Given the description of an element on the screen output the (x, y) to click on. 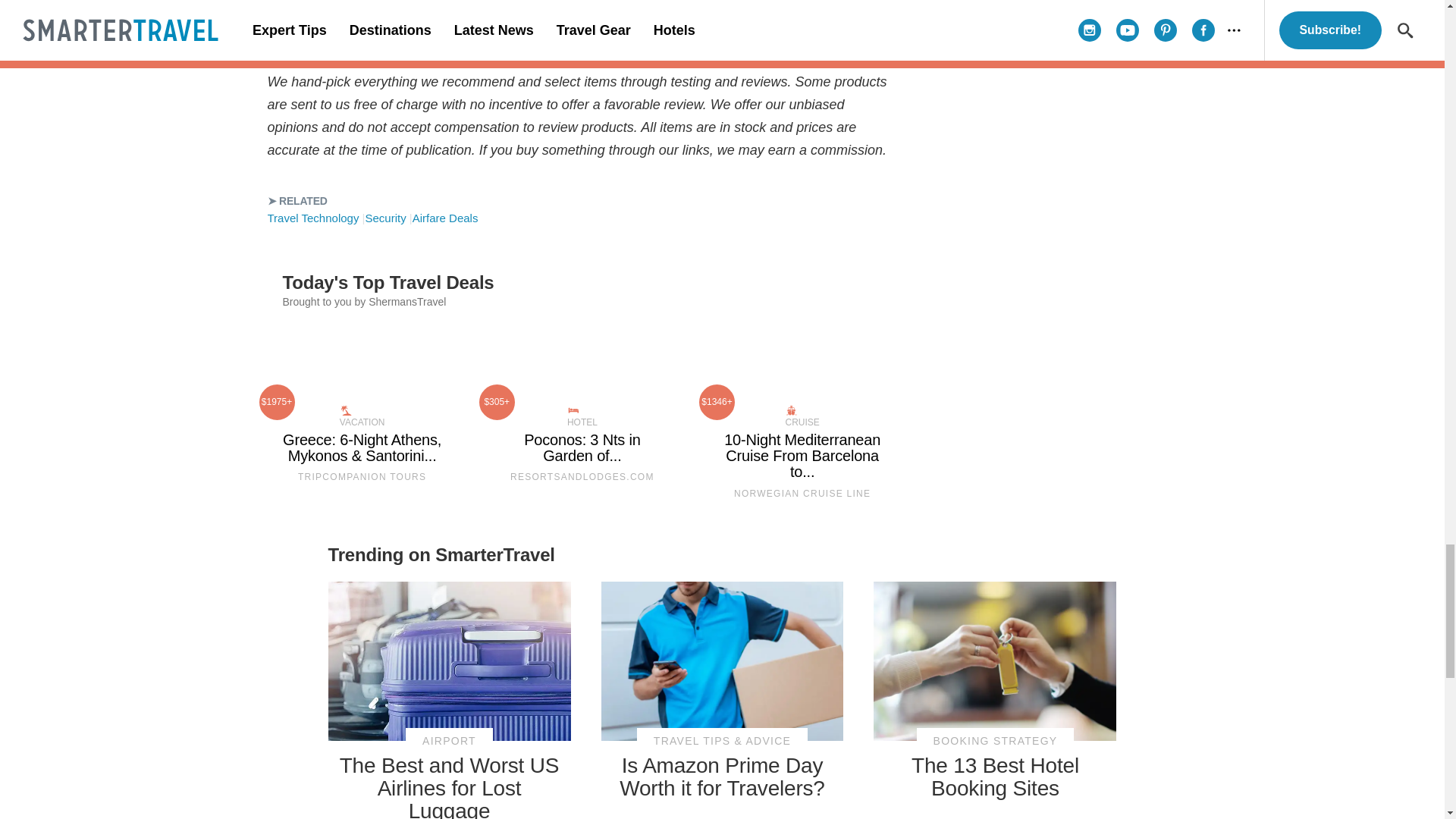
View all posts in Airport (449, 741)
View all posts in Booking Strategy (995, 741)
